Given the description of an element on the screen output the (x, y) to click on. 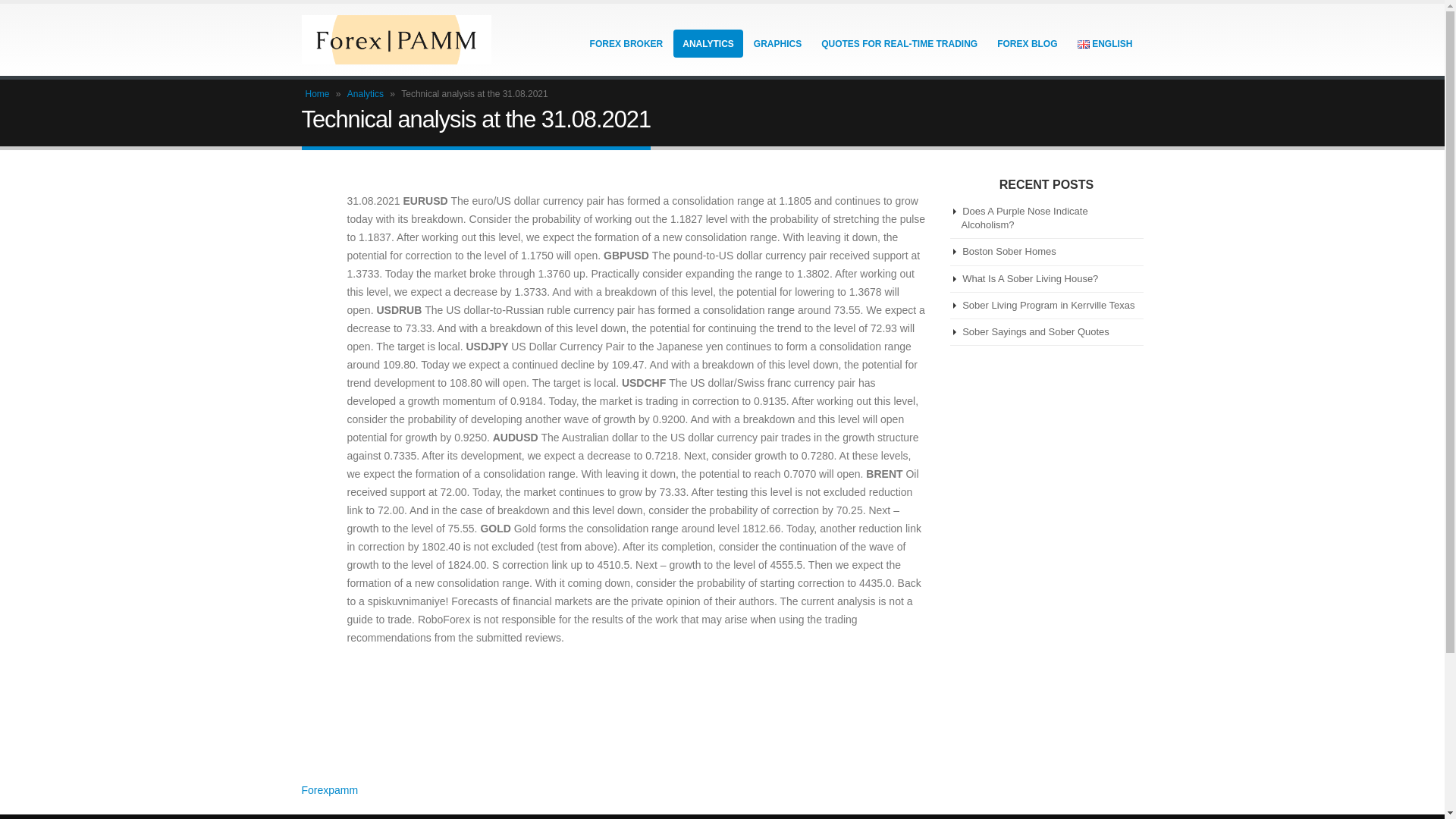
ANALYTICS (707, 43)
GRAPHICS (777, 43)
FOREX BROKER (626, 43)
ENGLISH (1104, 43)
Analytics (365, 93)
Boston Sober Homes (1009, 251)
Sober Living Program in Kerrville Texas (1048, 305)
Home (316, 93)
FOREX BLOG (1026, 43)
QUOTES FOR REAL-TIME TRADING (899, 43)
Forexpamm (329, 789)
Forexpamm -  (396, 39)
Sober Sayings and Sober Quotes (1035, 331)
Does A Purple Nose Indicate Alcoholism? (1023, 217)
What Is A Sober Living House? (1029, 278)
